Given the description of an element on the screen output the (x, y) to click on. 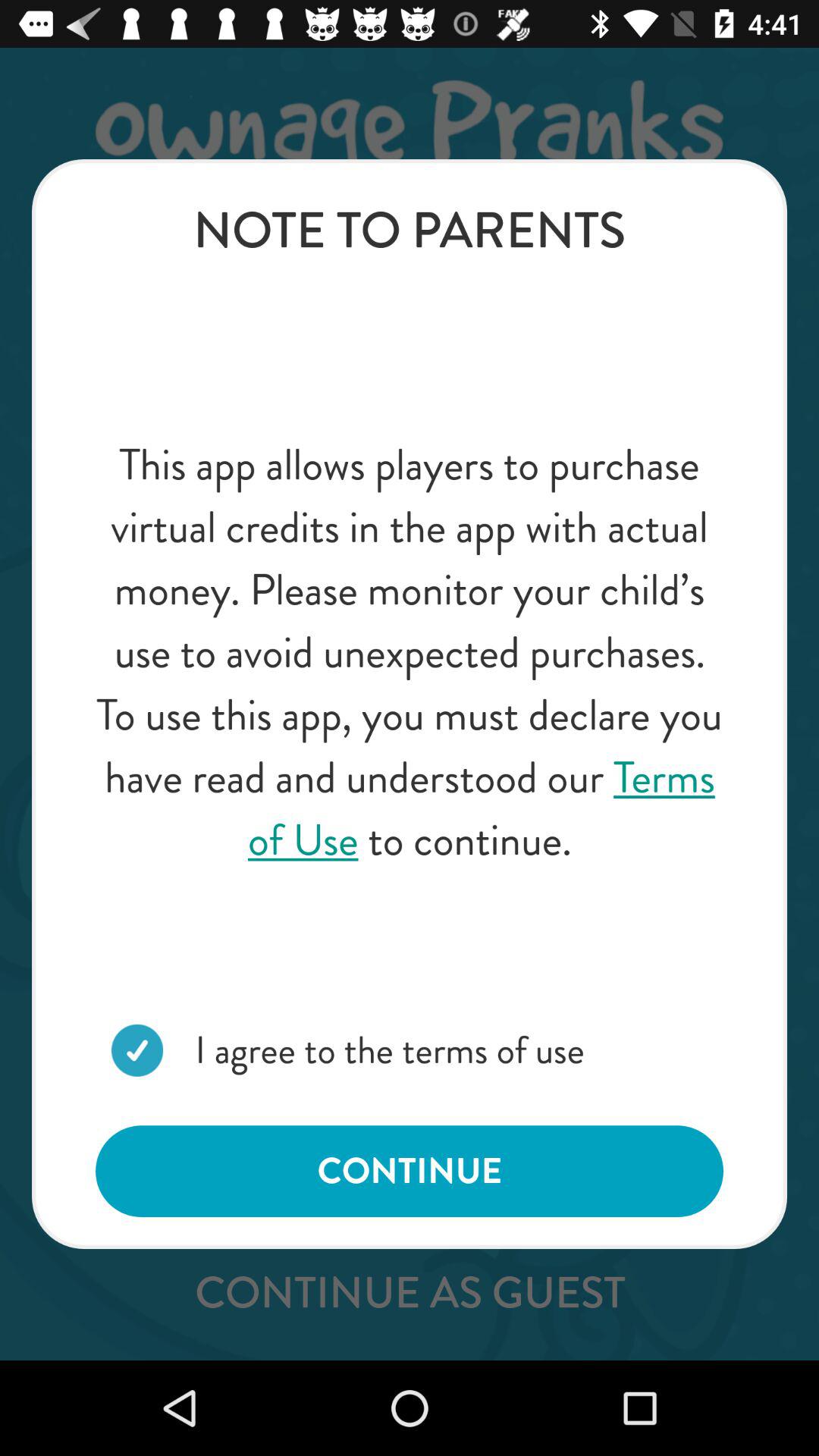
launch the this app allows (409, 652)
